Given the description of an element on the screen output the (x, y) to click on. 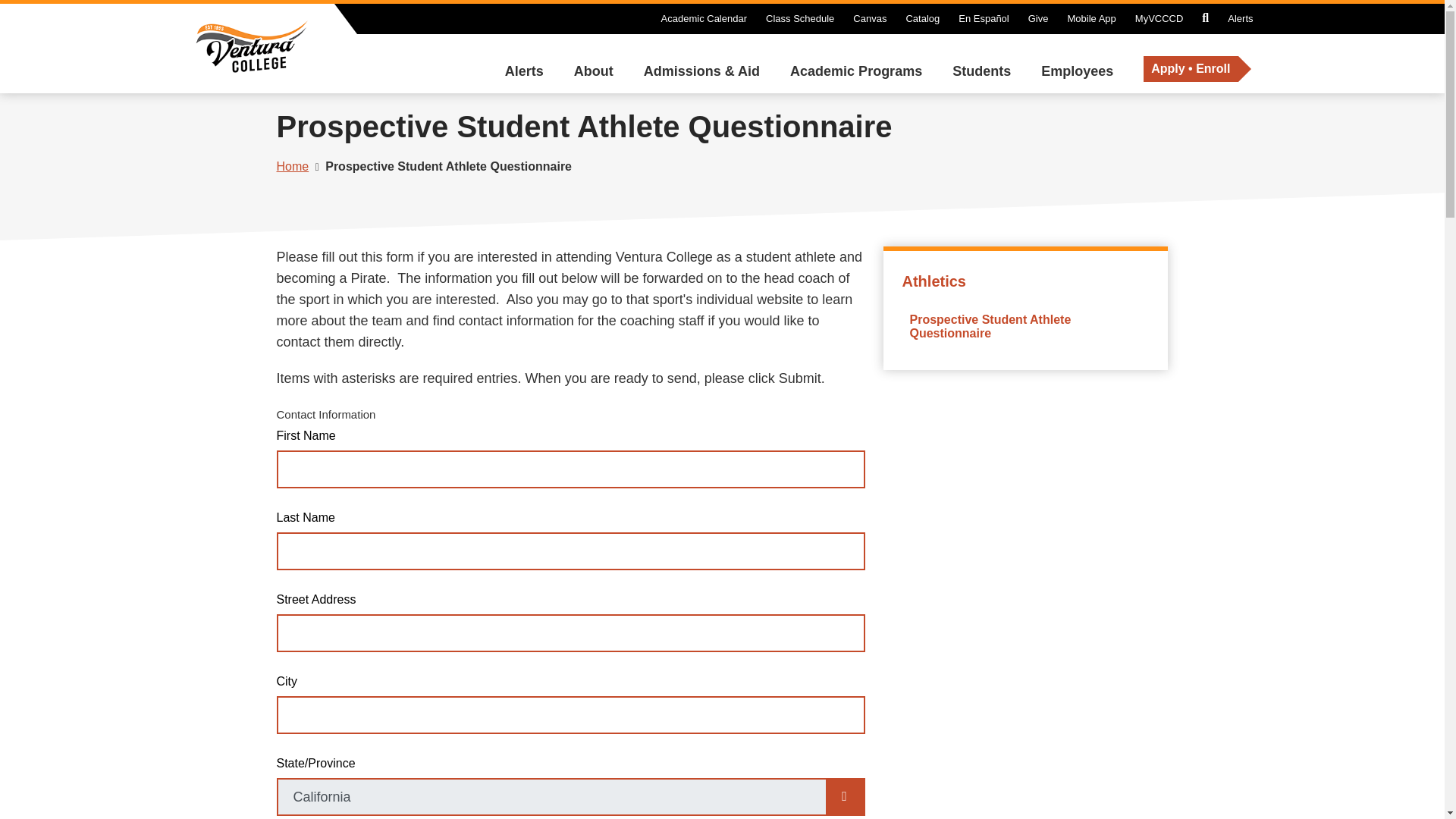
Class Schedule (799, 18)
Academic Calendar (703, 18)
Give (1037, 18)
Catalog (922, 18)
Canvas (869, 18)
Alerts (524, 70)
Mobile App (1091, 18)
Alerts (1239, 18)
MyVCCCD (1159, 18)
